Given the description of an element on the screen output the (x, y) to click on. 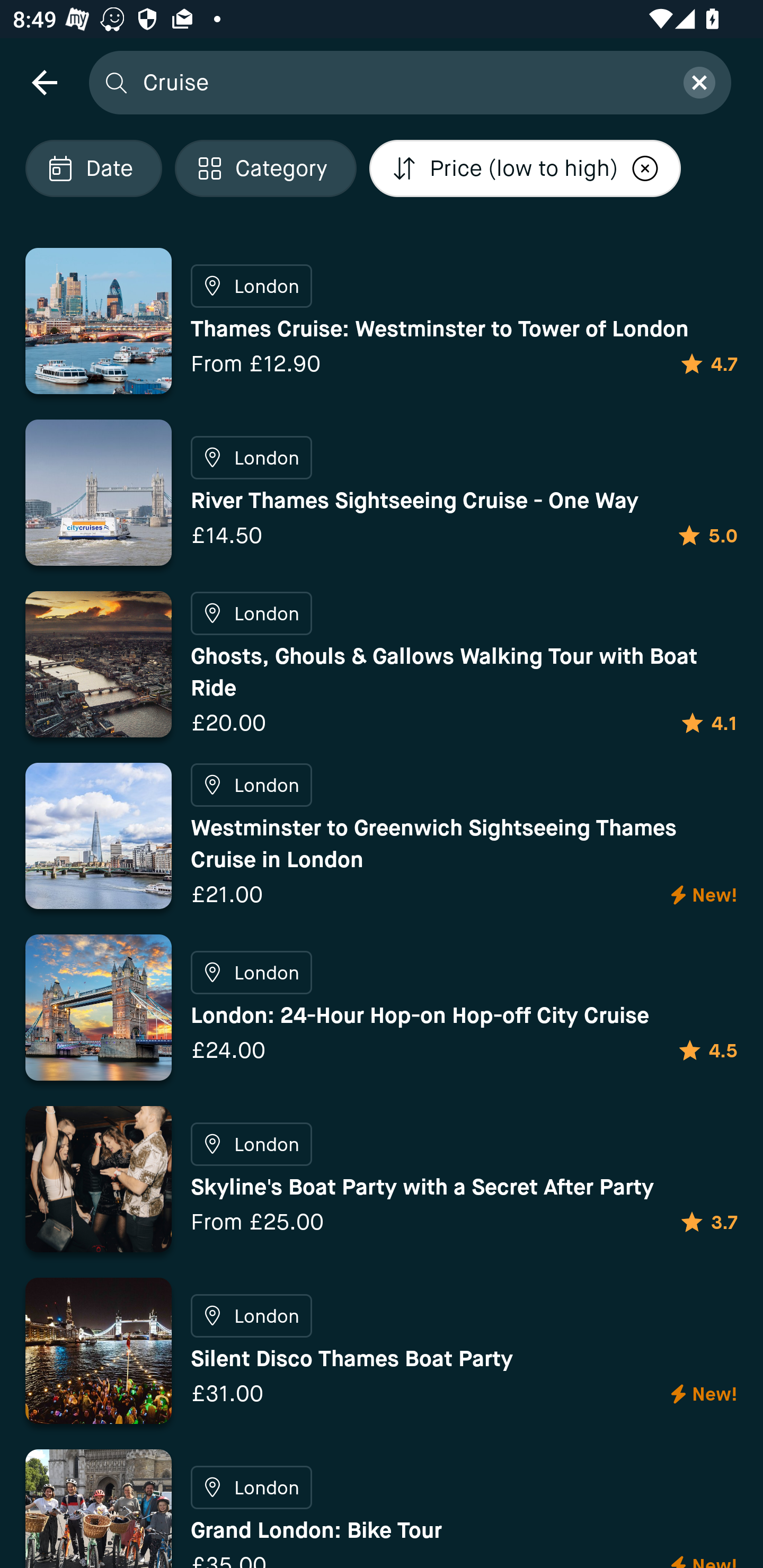
navigation icon (44, 81)
Cruise (402, 81)
Localized description Date (93, 168)
Localized description Category (265, 168)
Localized description (645, 168)
